Given the description of an element on the screen output the (x, y) to click on. 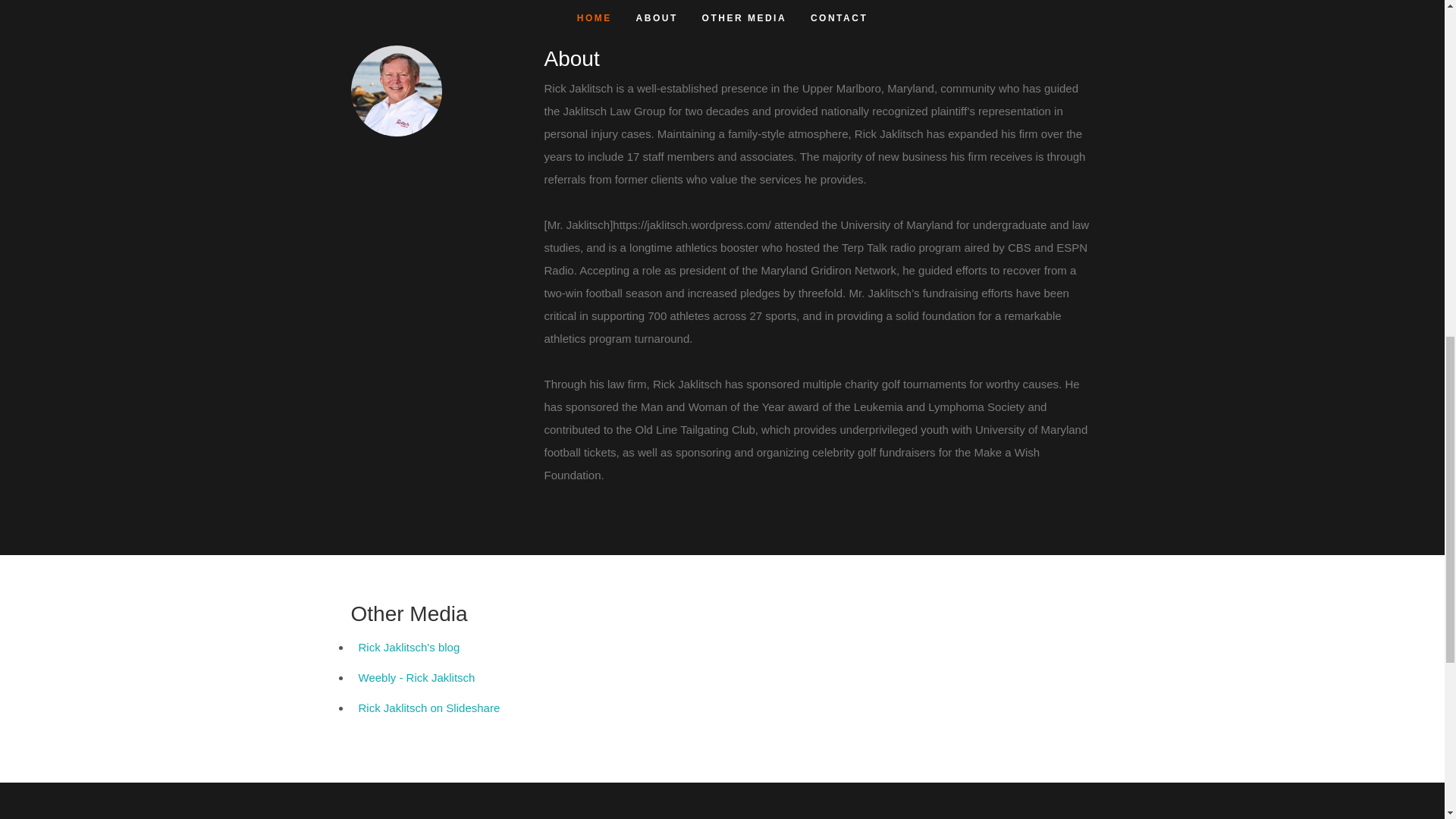
Rick Jaklitsch (395, 90)
Weebly - Rick Jaklitsch (416, 676)
Weebly - Rick Jaklitsch (416, 676)
Rick Jaklitsch on Slideshare (428, 707)
Rick Jaklitsch's blog (409, 646)
Rick Jaklitsch on Slideshare (428, 707)
Rick Jaklitsch's blog (409, 646)
